Given the description of an element on the screen output the (x, y) to click on. 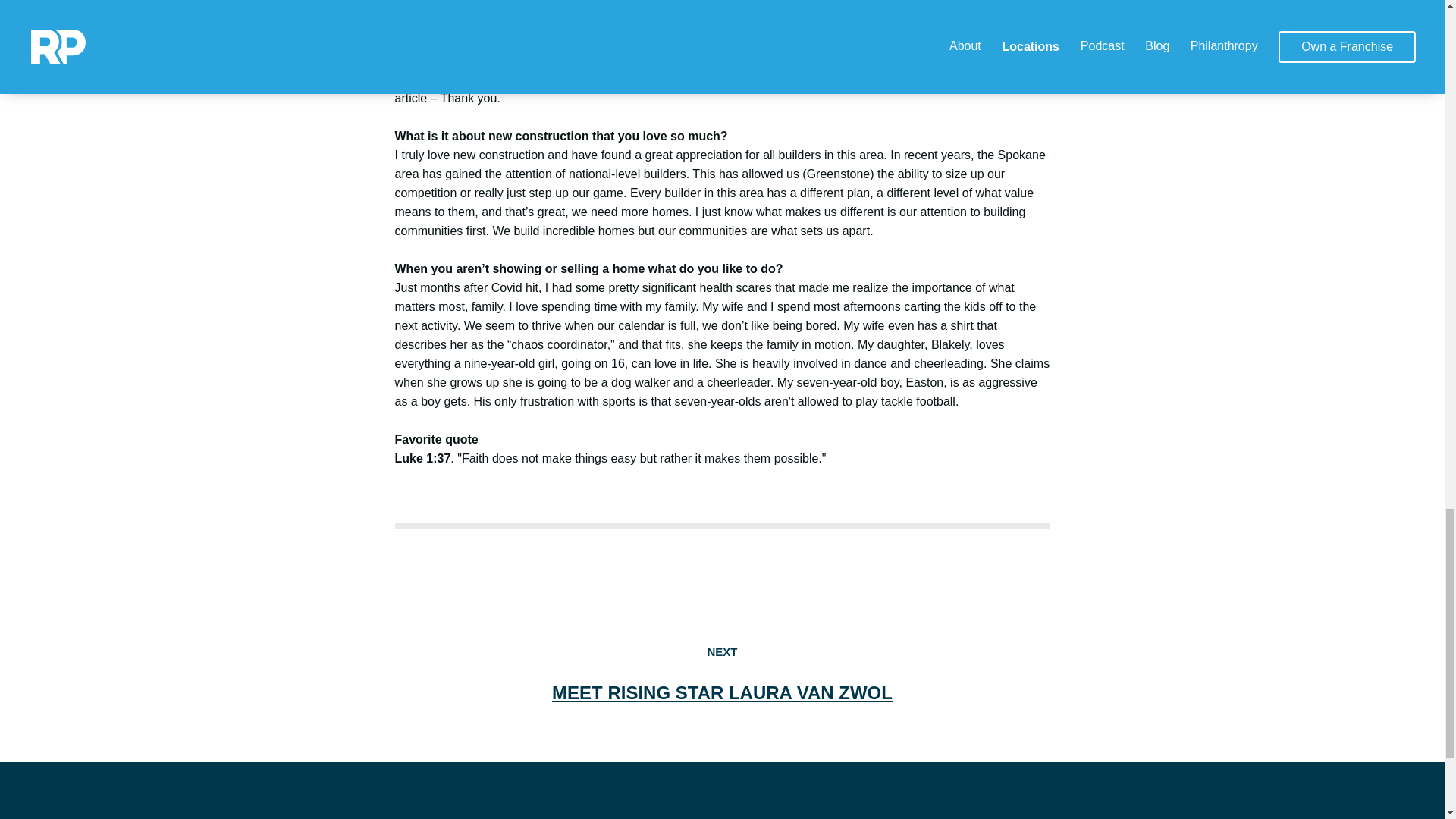
MEET RISING STAR LAURA VAN ZWOL (721, 692)
